Given the description of an element on the screen output the (x, y) to click on. 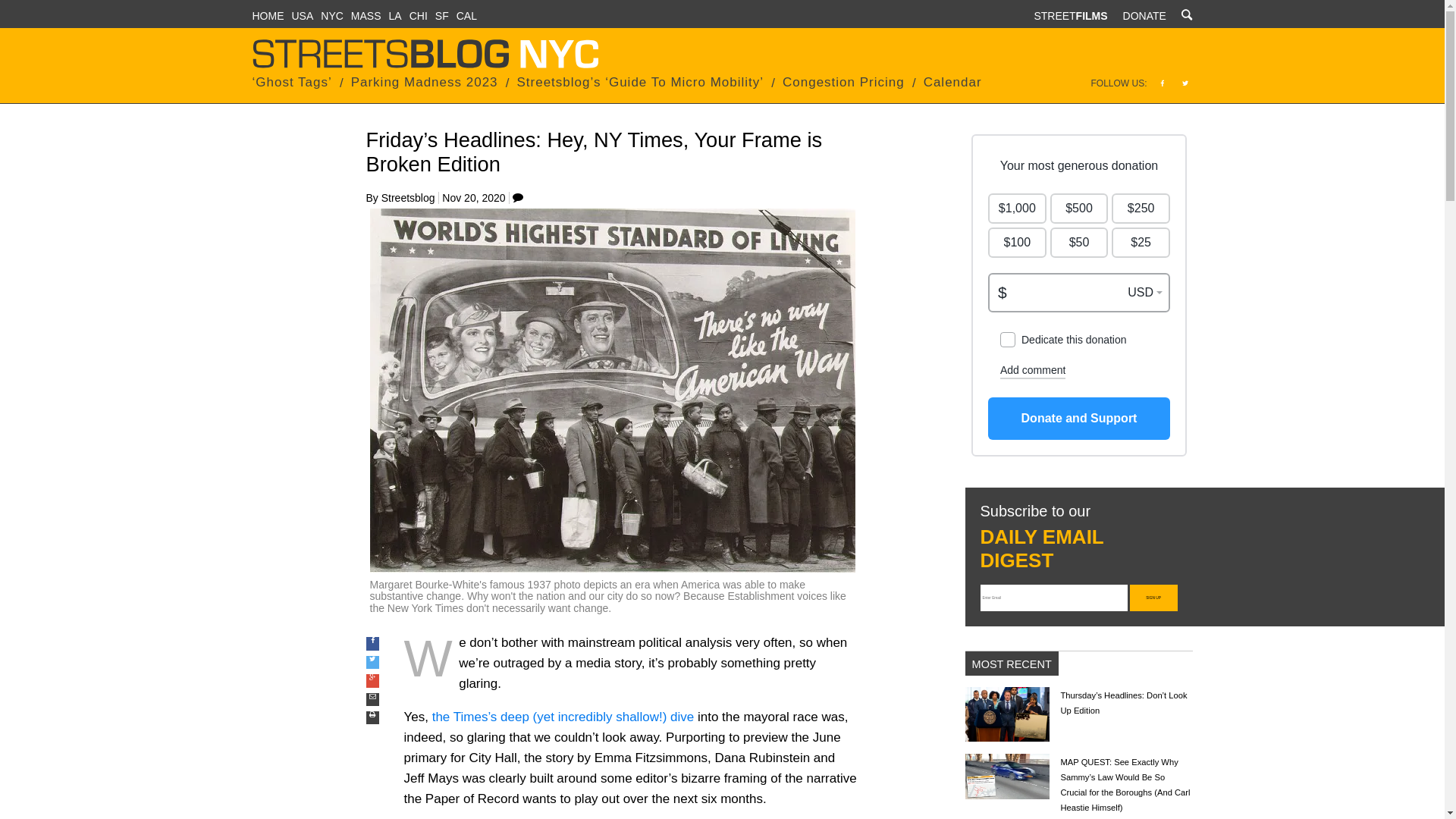
NYC (331, 15)
LA (394, 15)
CAL (467, 15)
USA (302, 15)
Nov 20, 2020 (473, 197)
Calendar (952, 82)
CHI (418, 15)
Parking Madness 2023 (423, 82)
HOME (267, 15)
MASS (365, 15)
STREETFILMS (1069, 15)
DONATE (1144, 15)
Streetsblog (408, 197)
SF (441, 15)
Congestion Pricing (843, 82)
